Given the description of an element on the screen output the (x, y) to click on. 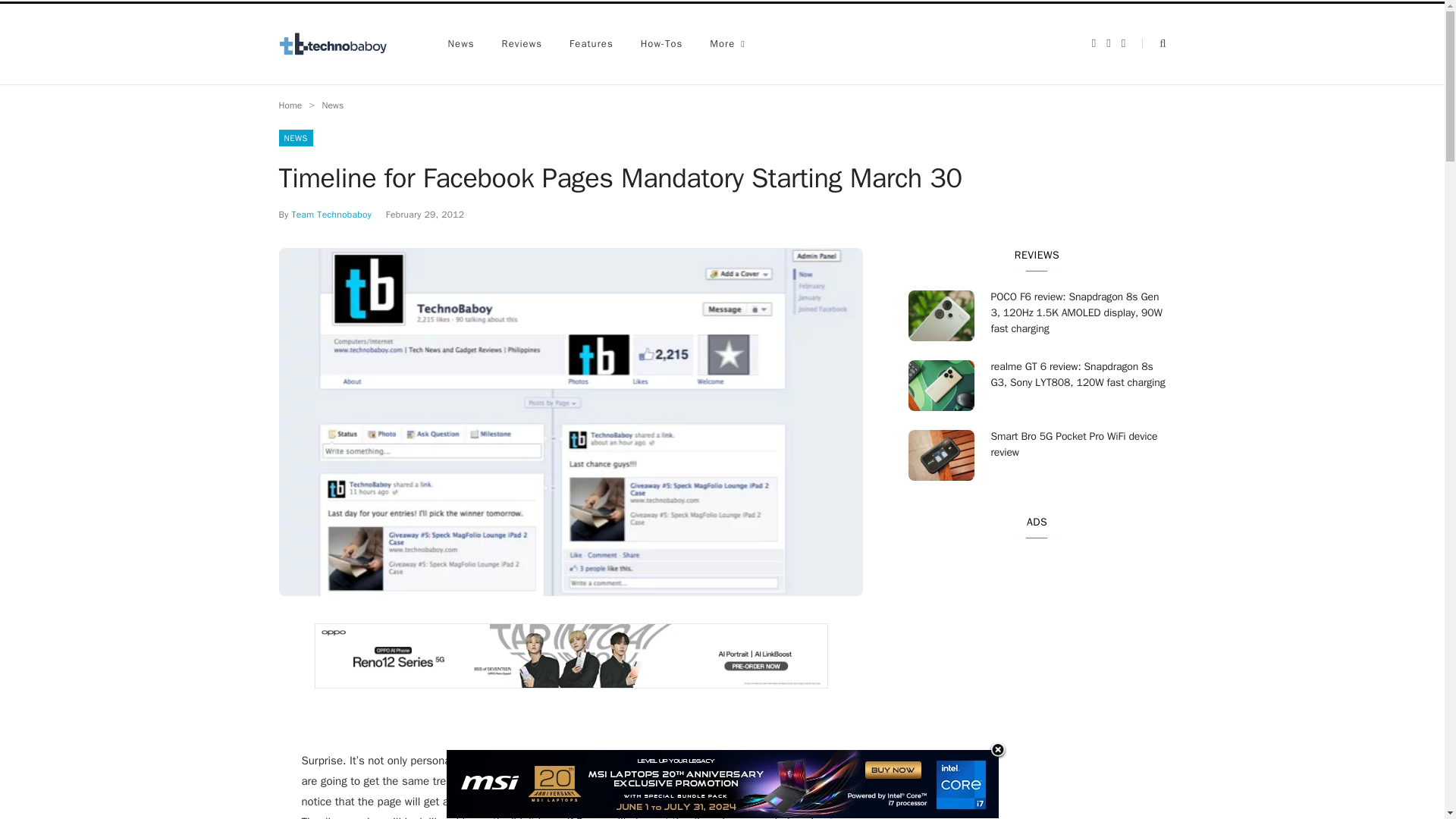
Reviews (521, 44)
February 29, 2012 (424, 214)
How-Tos (662, 44)
Home (290, 105)
Search (1153, 43)
Instagram (1123, 43)
News (332, 105)
Facebook (1094, 43)
NEWS (296, 137)
Technobaboy (339, 43)
News (460, 44)
Features (591, 44)
Posts by Team Technobaboy (331, 214)
